Given the description of an element on the screen output the (x, y) to click on. 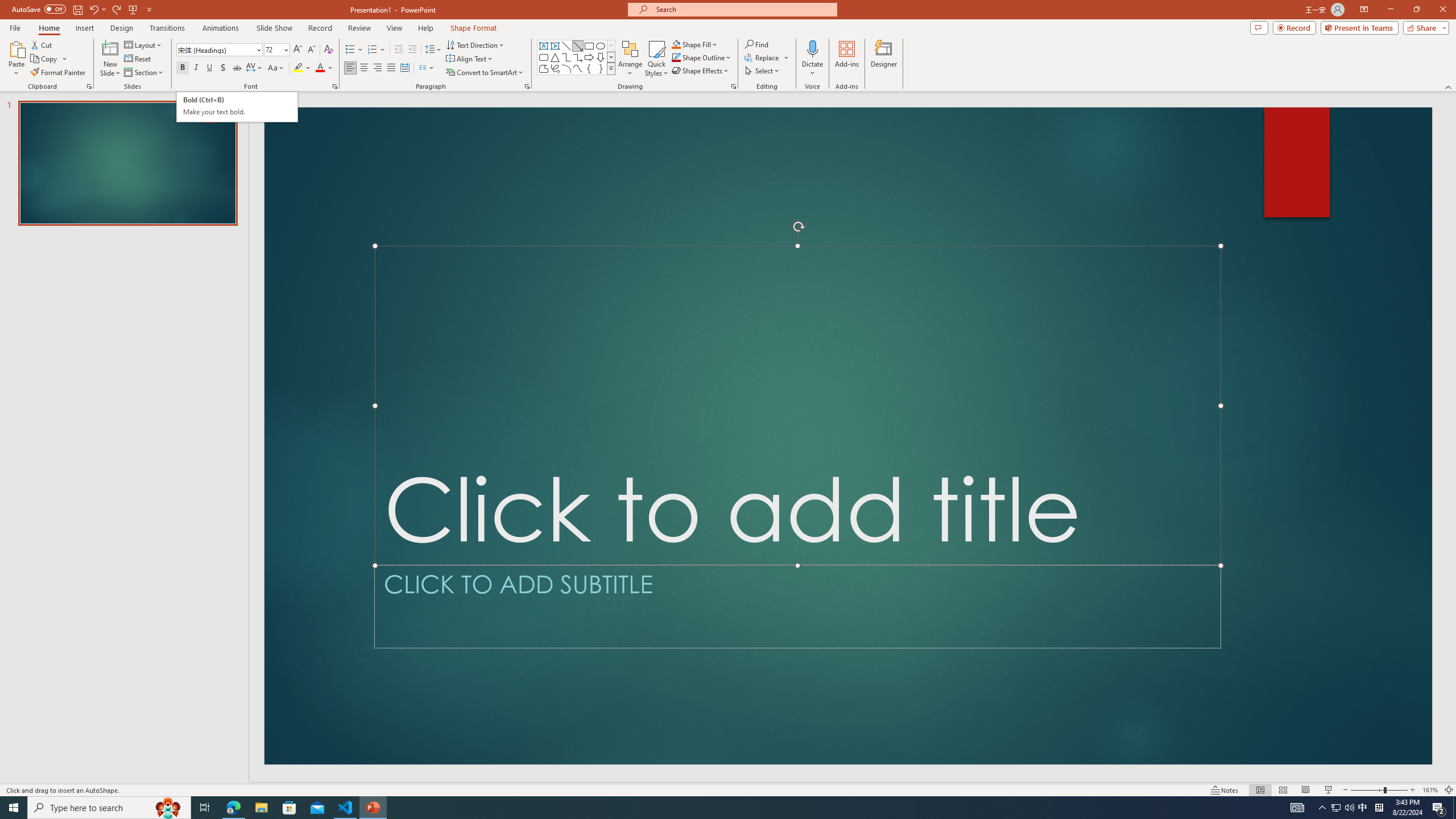
Distributed (404, 67)
New Slide (110, 48)
Font (219, 49)
Find... (756, 44)
Section (144, 72)
Decrease Indent (398, 49)
Line (566, 45)
Isosceles Triangle (554, 57)
Open (285, 49)
Vertical Text Box (554, 45)
Left Brace (237, 106)
Rectangle: Rounded Corners (589, 68)
Arrange (543, 57)
